Given the description of an element on the screen output the (x, y) to click on. 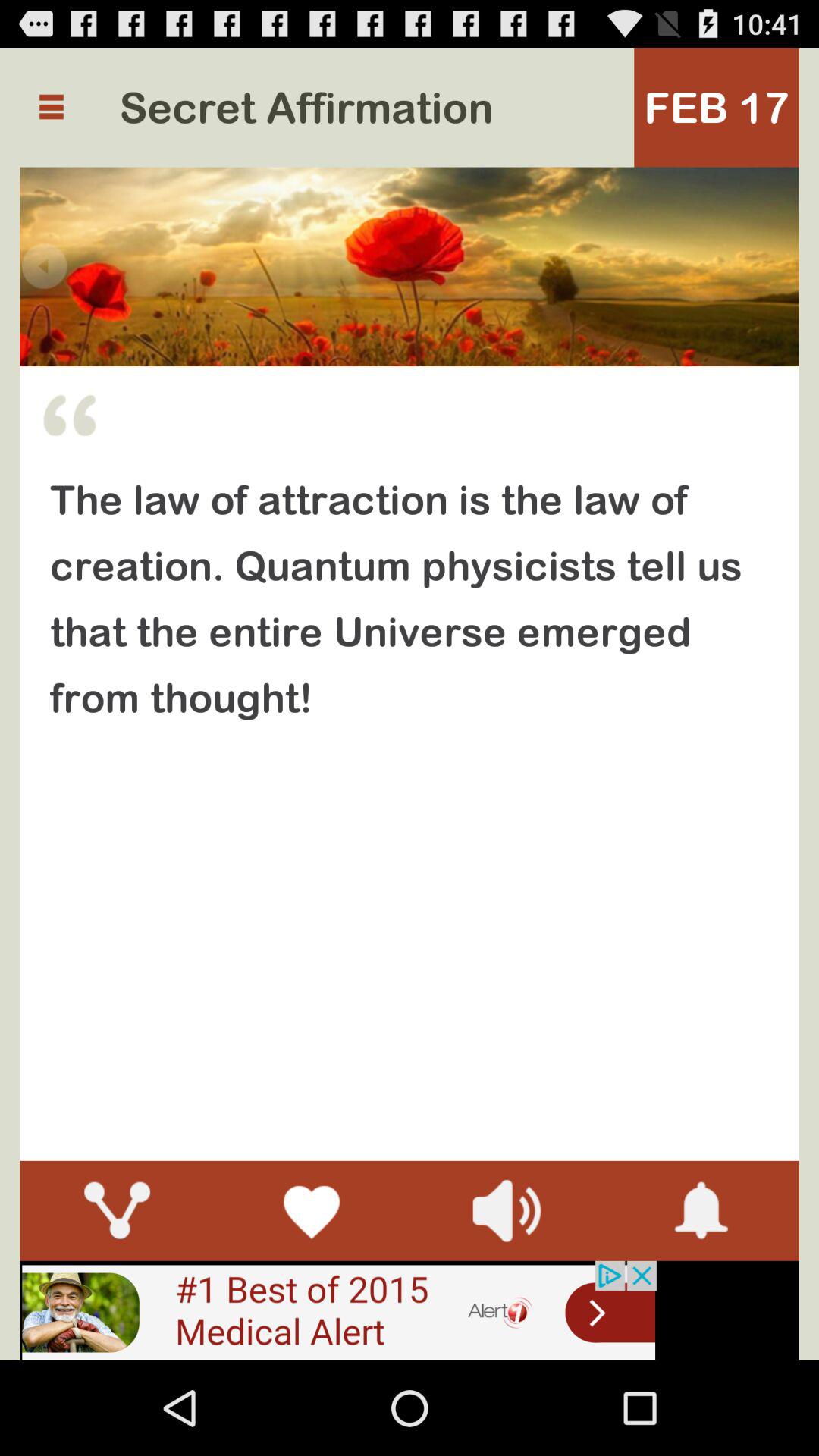
see an image (337, 1310)
